Given the description of an element on the screen output the (x, y) to click on. 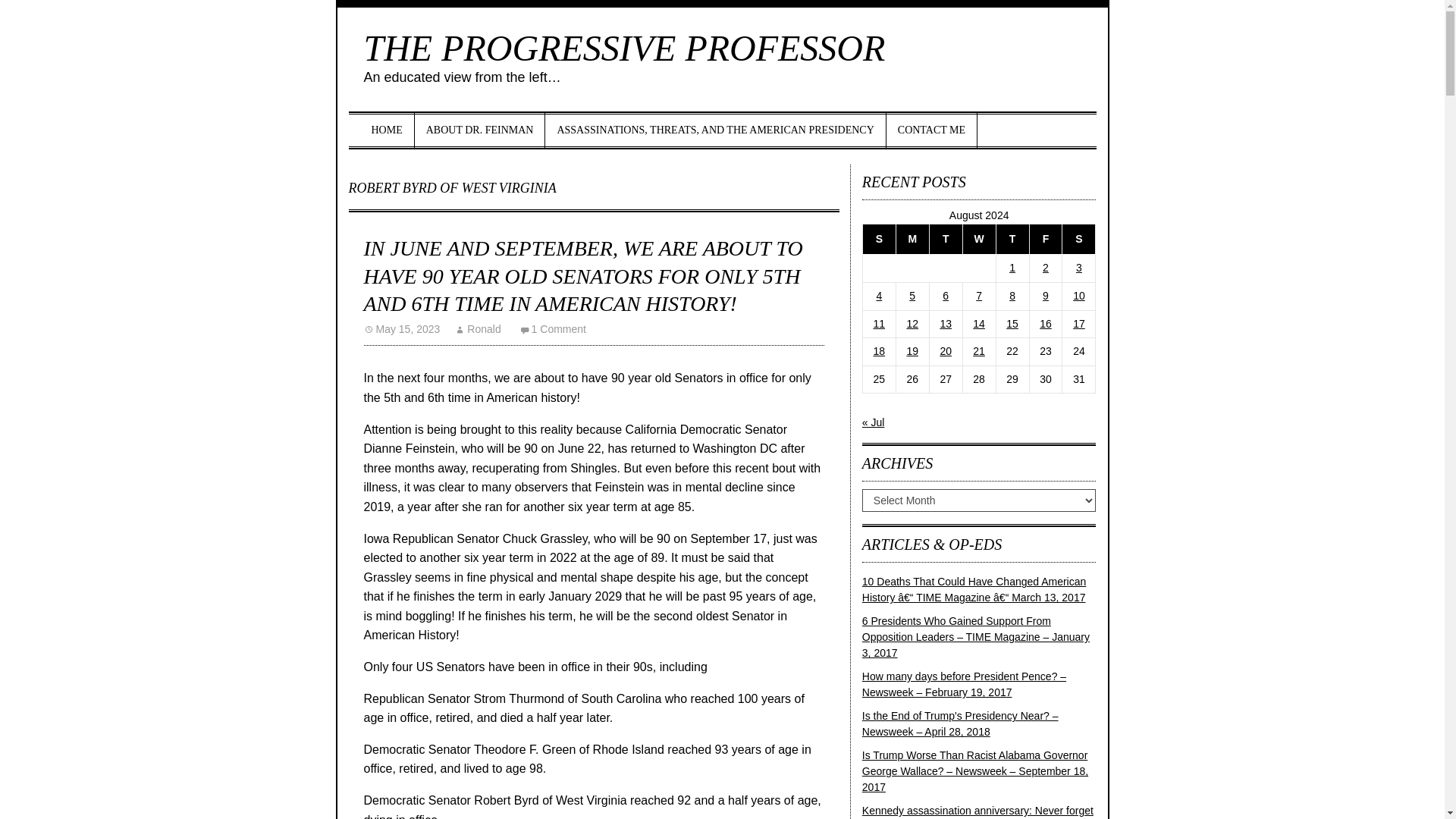
HOME (386, 130)
View all posts by Ronald (477, 328)
CONTACT ME (931, 130)
The Progressive Professor (624, 47)
Ronald (477, 328)
About Dr. Feinman (480, 130)
2:27 pm (402, 328)
12 (911, 323)
10 (1078, 295)
11 (879, 323)
